Given the description of an element on the screen output the (x, y) to click on. 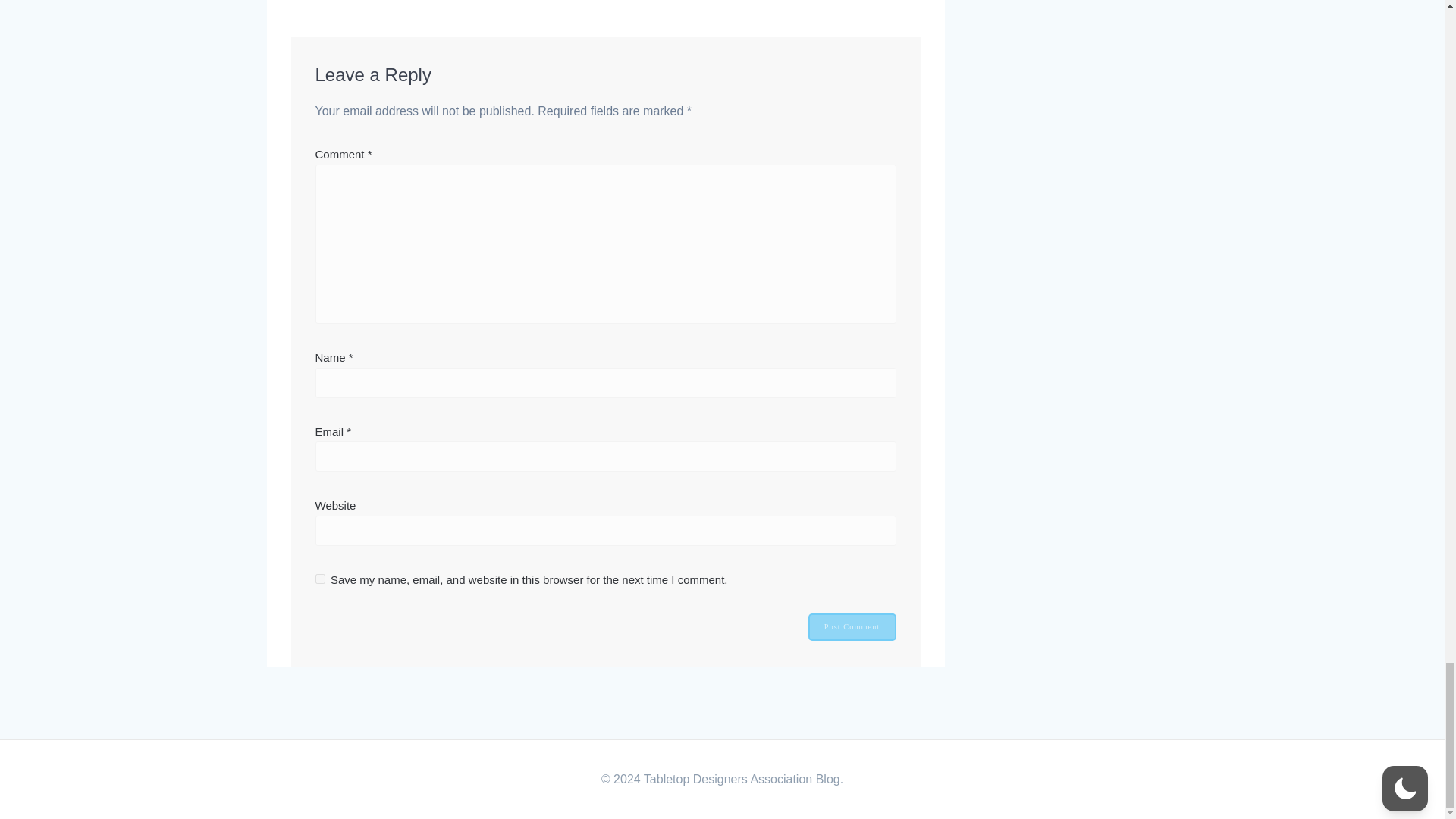
Post Comment (852, 626)
yes (319, 578)
Post Comment (852, 626)
